Given the description of an element on the screen output the (x, y) to click on. 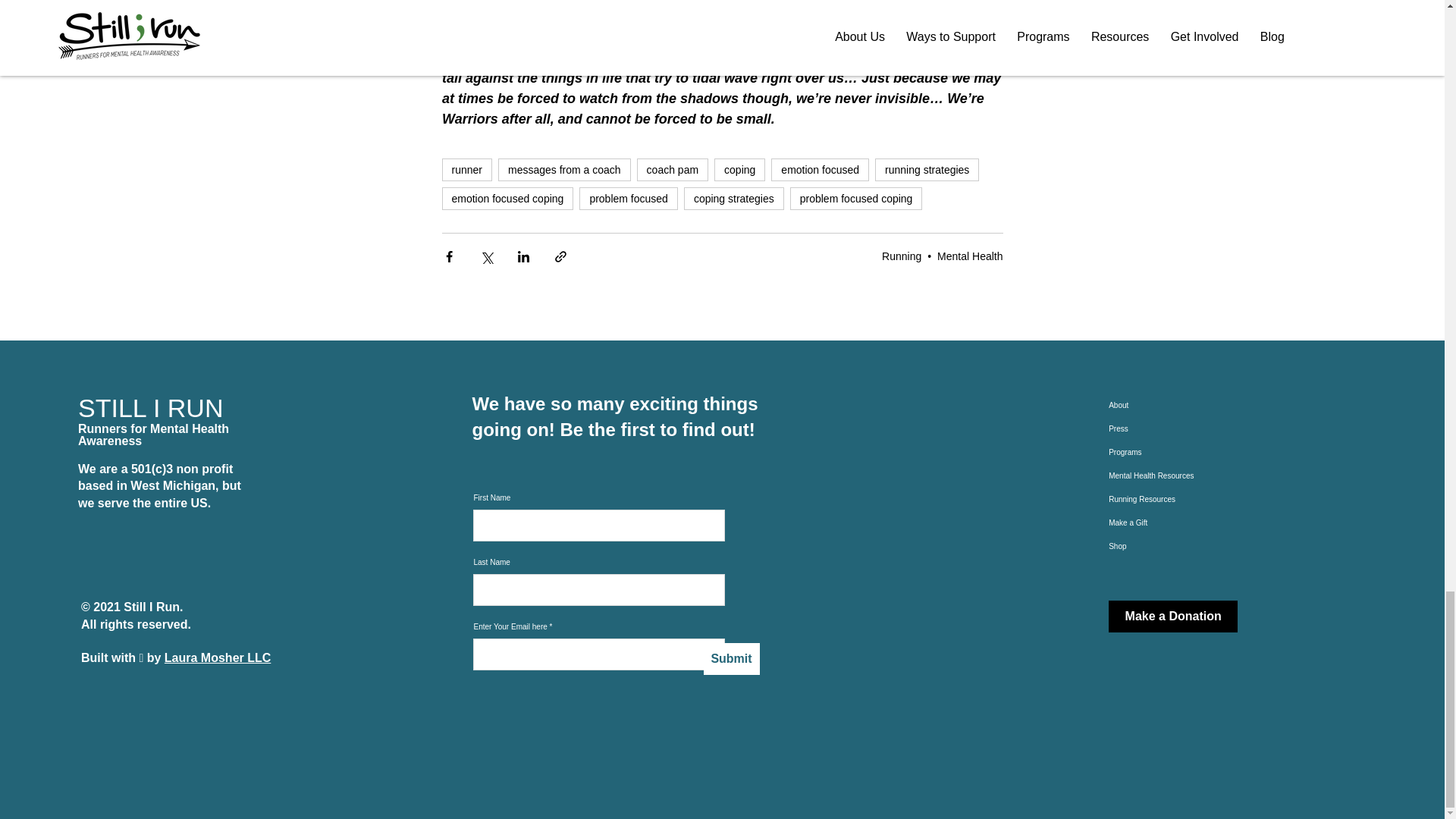
messages from a coach (563, 169)
coping (739, 169)
coach pam (672, 169)
runner (466, 169)
